Given the description of an element on the screen output the (x, y) to click on. 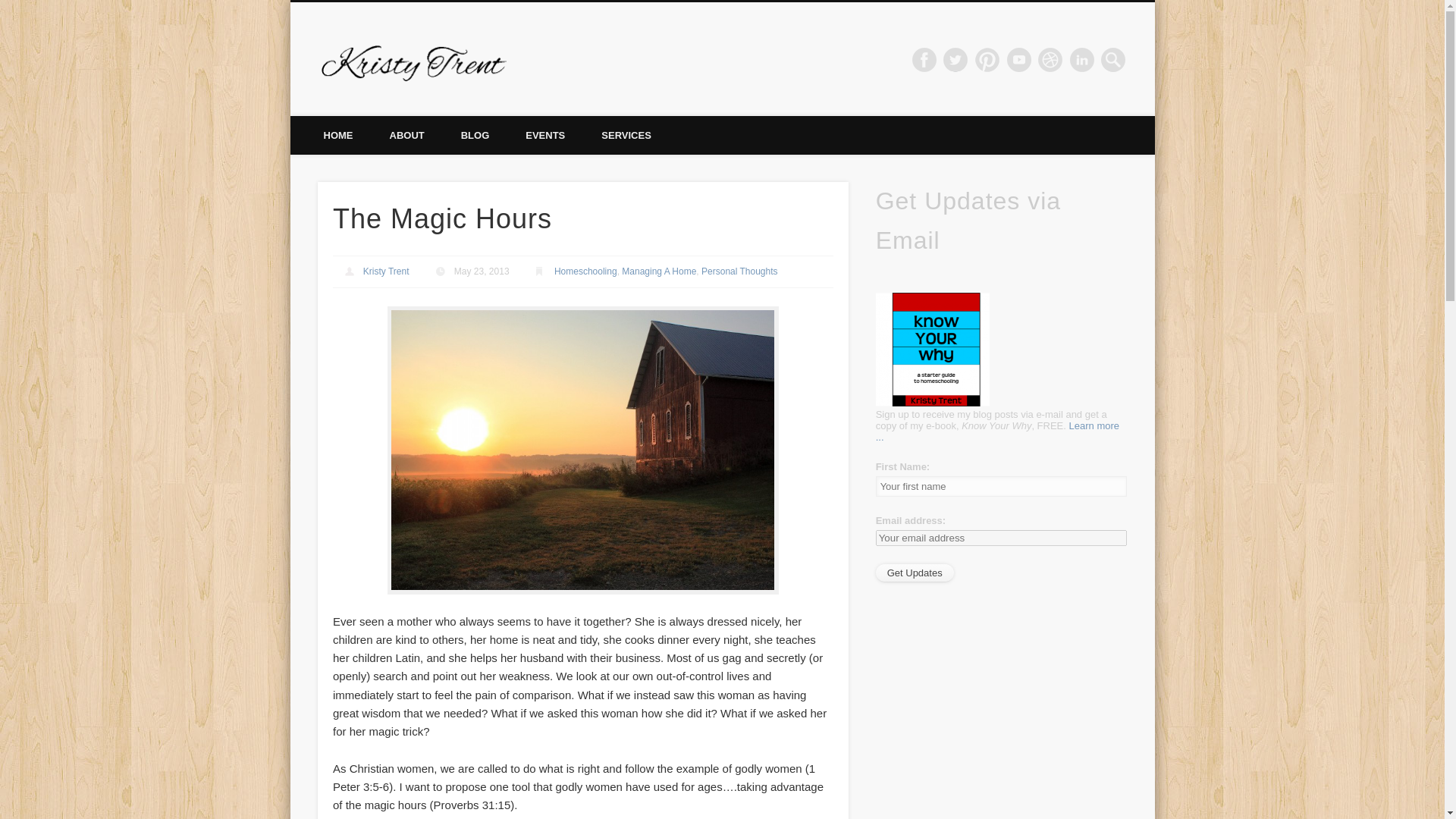
Dribble (1050, 59)
Learn more ... (997, 431)
Facebook (924, 59)
LinkedIn (1082, 59)
Managing A Home (658, 271)
EVENTS (544, 135)
Personal Thoughts (739, 271)
ABOUT (406, 135)
Kristy Trent (385, 271)
SERVICES (626, 135)
